Given the description of an element on the screen output the (x, y) to click on. 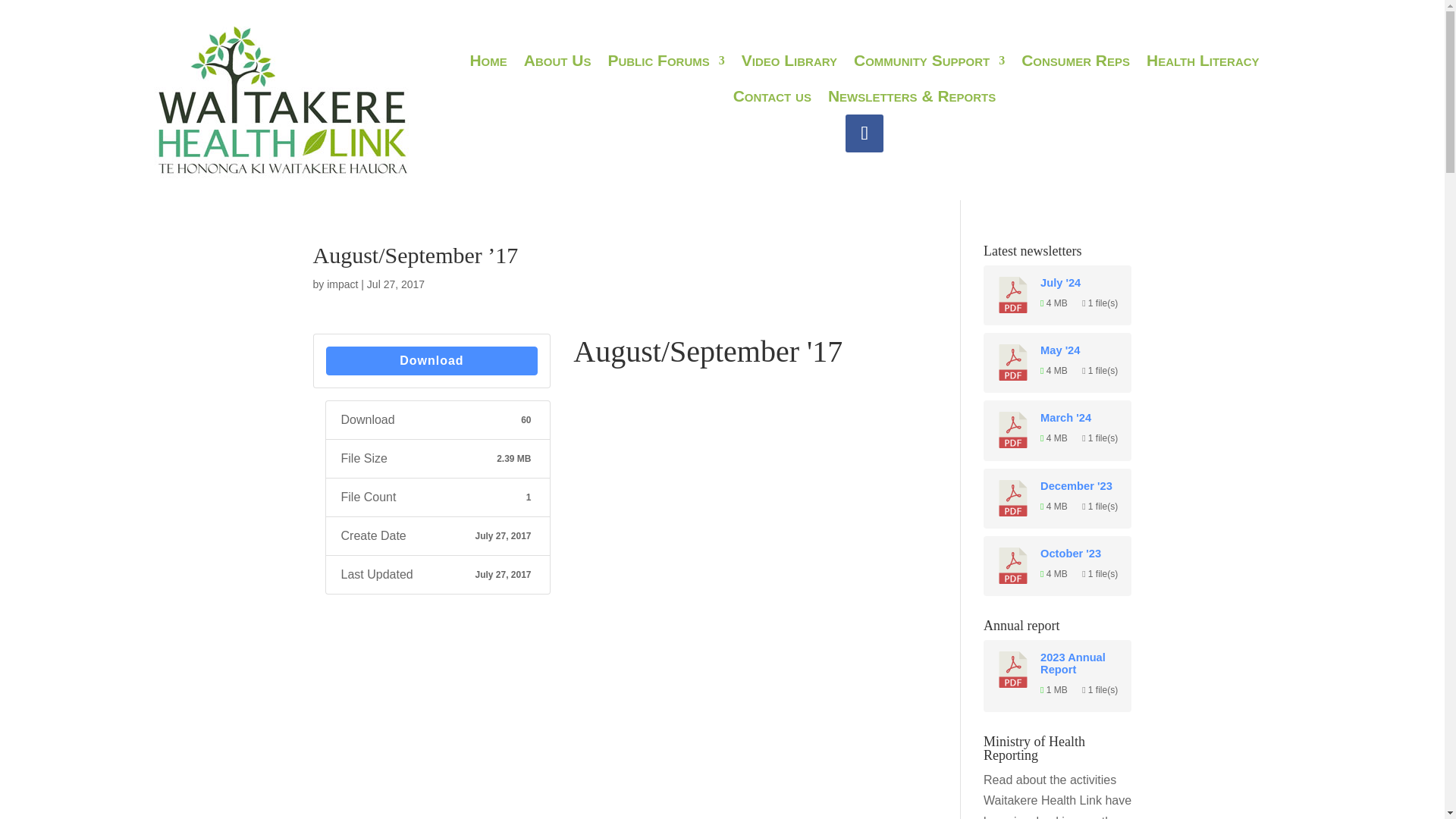
Contact us (771, 99)
Posts by impact (342, 284)
March '24 (1080, 417)
Follow on Facebook (864, 132)
Health Literacy (1203, 63)
Community Support (928, 63)
Home (487, 63)
Video Library (789, 63)
July '24 (1080, 282)
About Us (557, 63)
